Given the description of an element on the screen output the (x, y) to click on. 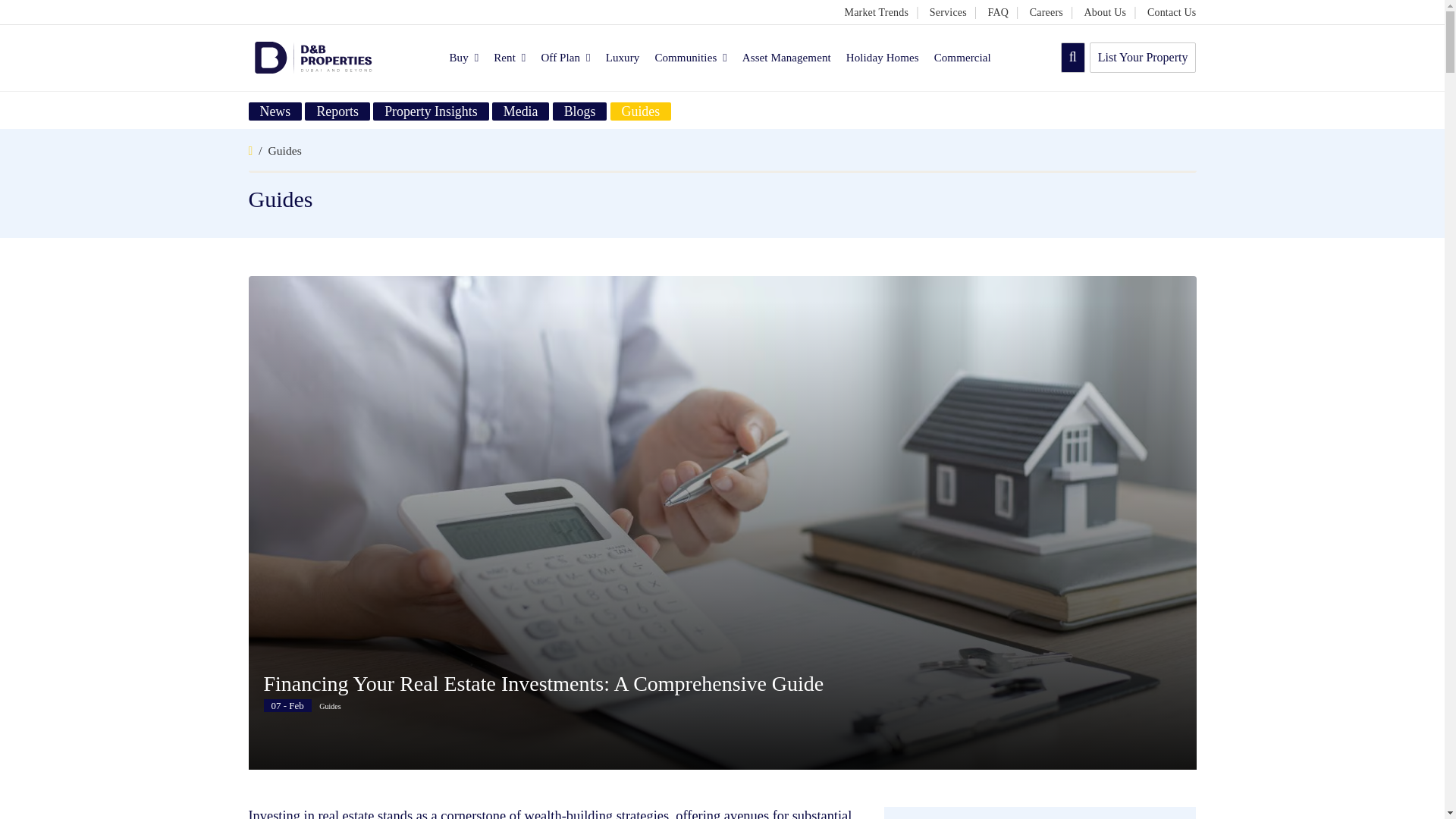
Careers (1045, 12)
Holiday Homes (881, 57)
Commercial (962, 57)
FAQ (998, 12)
Asset Management (786, 57)
Rent (509, 57)
Market Trends (876, 12)
Off Plan (564, 57)
Luxury (622, 57)
Contact Us (1171, 12)
Services (948, 12)
About Us (1105, 12)
Communities (689, 57)
Buy (463, 57)
